Given the description of an element on the screen output the (x, y) to click on. 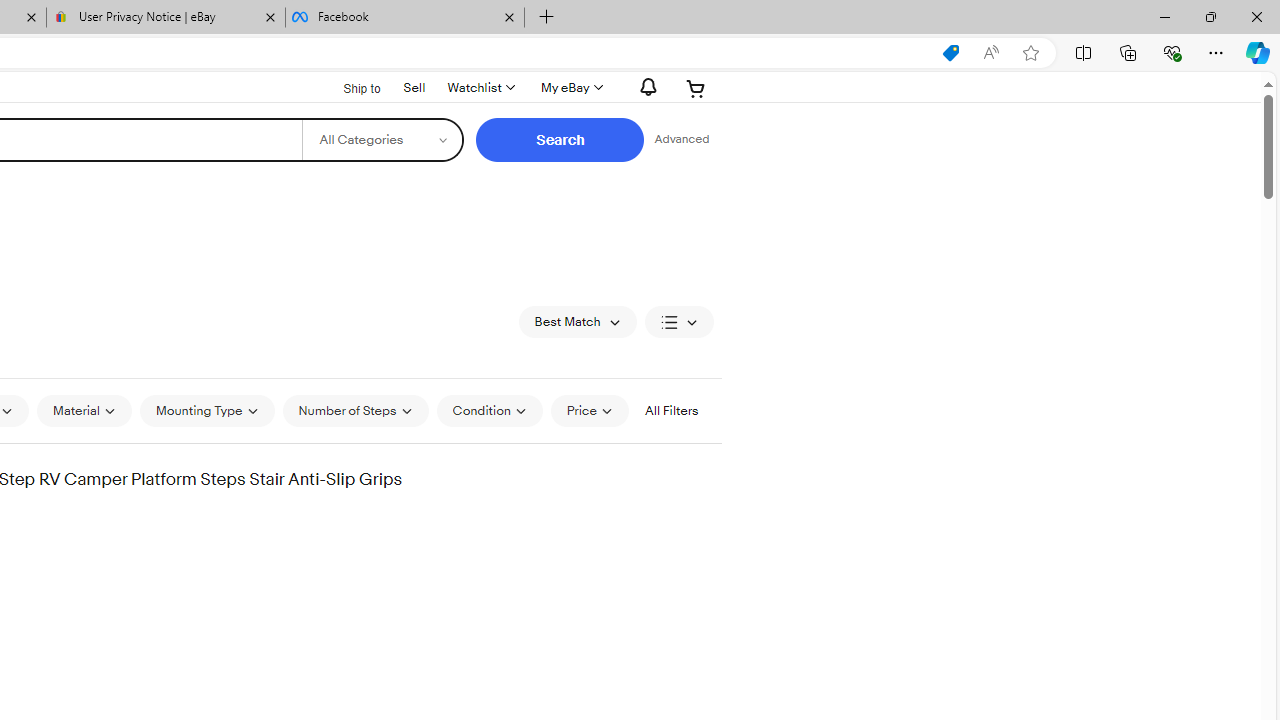
Number of Steps (354, 410)
Sort: Best Match (577, 321)
Watchlist (479, 88)
Price (589, 410)
Condition (489, 410)
Ship to (349, 86)
All Filters (671, 410)
Notifications (642, 87)
Facebook (404, 17)
My eBayExpand My eBay (569, 88)
